Given the description of an element on the screen output the (x, y) to click on. 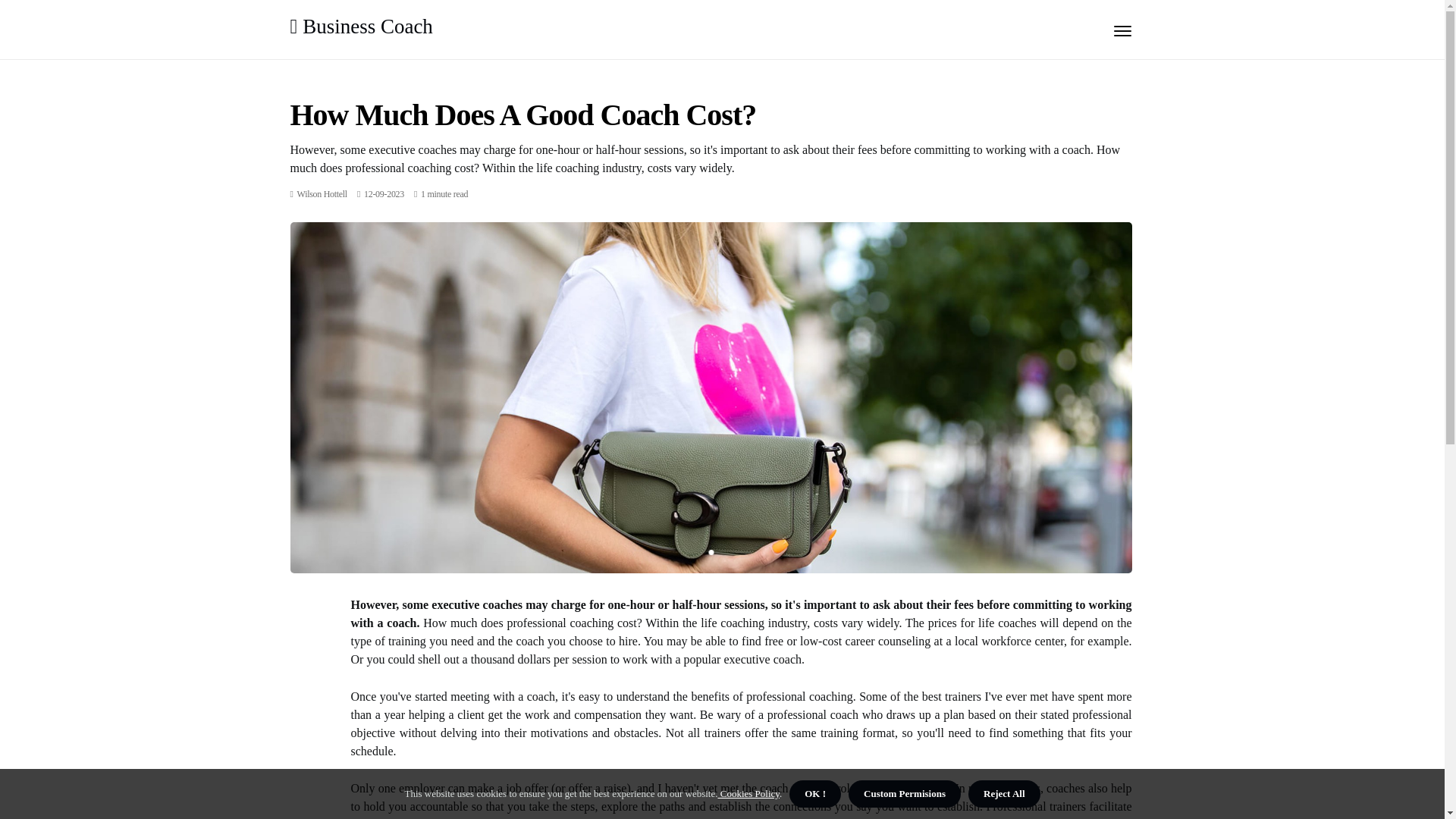
Posts by Wilson Hottell (322, 194)
Wilson Hottell (322, 194)
1 (710, 552)
Business Coach (360, 26)
